Given the description of an element on the screen output the (x, y) to click on. 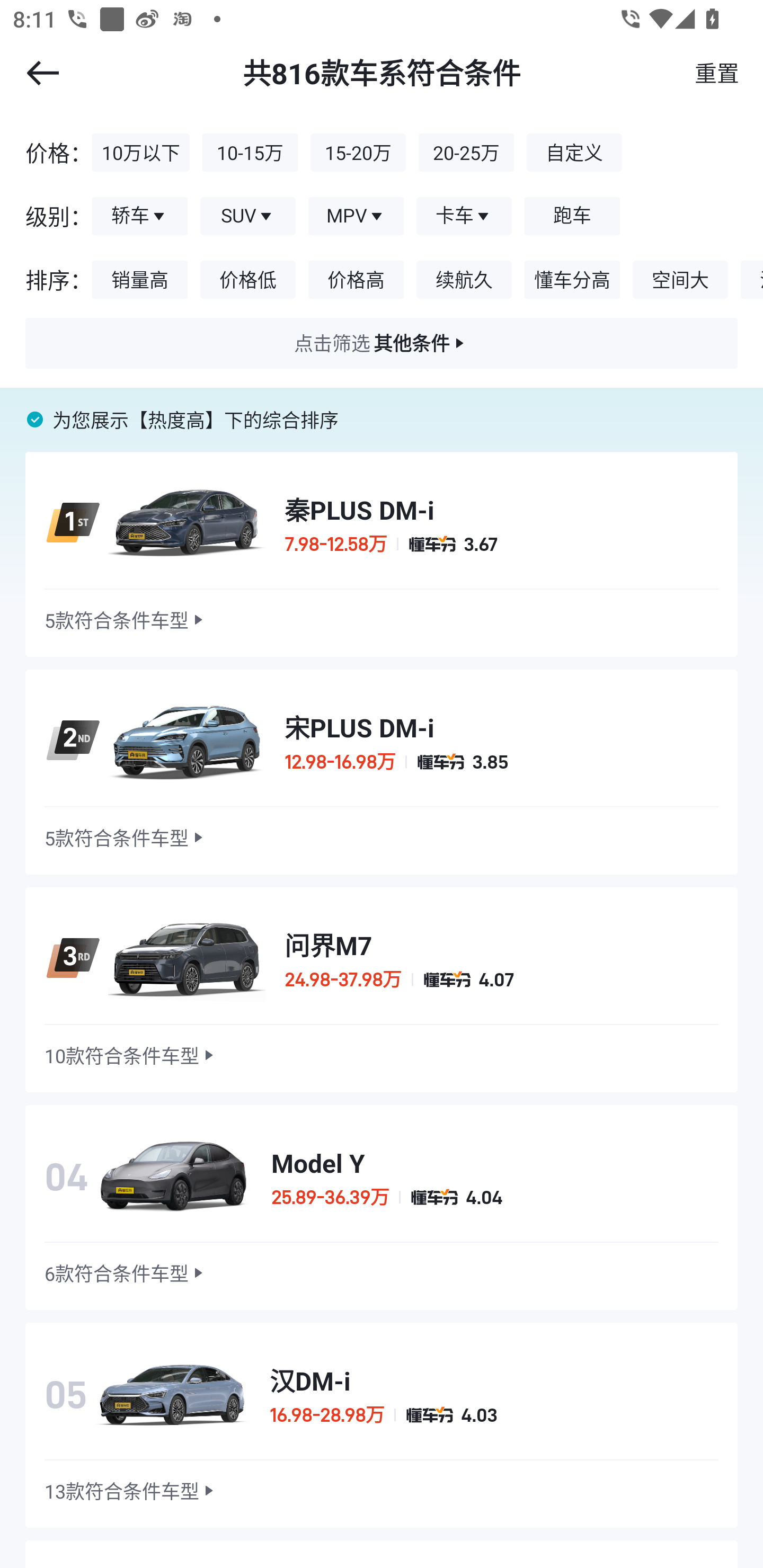
重置 (716, 72)
 (42, 72)
10万以下 (140, 151)
10-15万 (249, 151)
15-20万 (357, 151)
20-25万 (466, 151)
自定义 (573, 151)
轿车 (139, 216)
SUV (247, 216)
MPV (355, 216)
卡车 (463, 216)
跑车 (571, 216)
销量高 (139, 279)
价格低 (247, 279)
价格高 (355, 279)
续航久 (463, 279)
懂车分高 (571, 279)
空间大 (679, 279)
点击筛选 其他条件  (381, 343)
秦PLUS DM-i 7.98-12.58万 3.67 5款符合条件车型  (381, 553)
7.98-12.58万 3.67 (501, 544)
5款符合条件车型  (125, 619)
宋PLUS DM-i 12.98-16.98万 3.85 5款符合条件车型  (381, 771)
12.98-16.98万 3.85 (501, 762)
5款符合条件车型  (125, 837)
问界M7 24.98-37.98万 4.07 10款符合条件车型  (381, 989)
24.98-37.98万 4.07 (501, 979)
10款符合条件车型  (131, 1054)
04 Model Y 25.89-36.39万 4.04 6款符合条件车型  (381, 1207)
25.89-36.39万 4.04 (494, 1196)
6款符合条件车型  (125, 1272)
05 汉DM-i 16.98-28.98万 4.03 13款符合条件车型  (381, 1425)
16.98-28.98万 4.03 (493, 1414)
13款符合条件车型  (131, 1490)
